Given the description of an element on the screen output the (x, y) to click on. 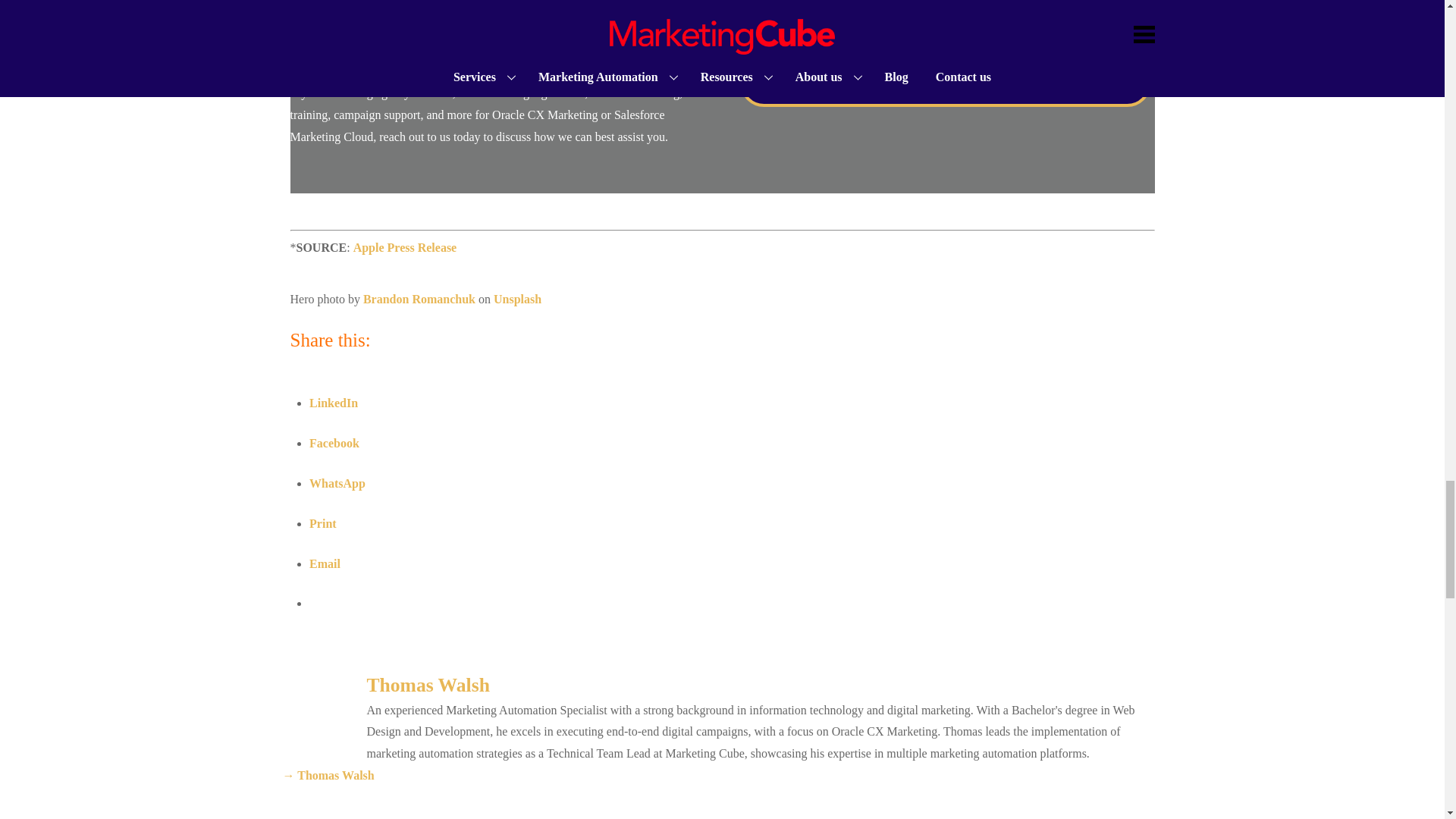
Click to share on Facebook (333, 442)
Click to share on WhatsApp (336, 482)
Click to email a link to a friend (324, 563)
Click to print (322, 522)
Click to share on LinkedIn (333, 402)
